Given the description of an element on the screen output the (x, y) to click on. 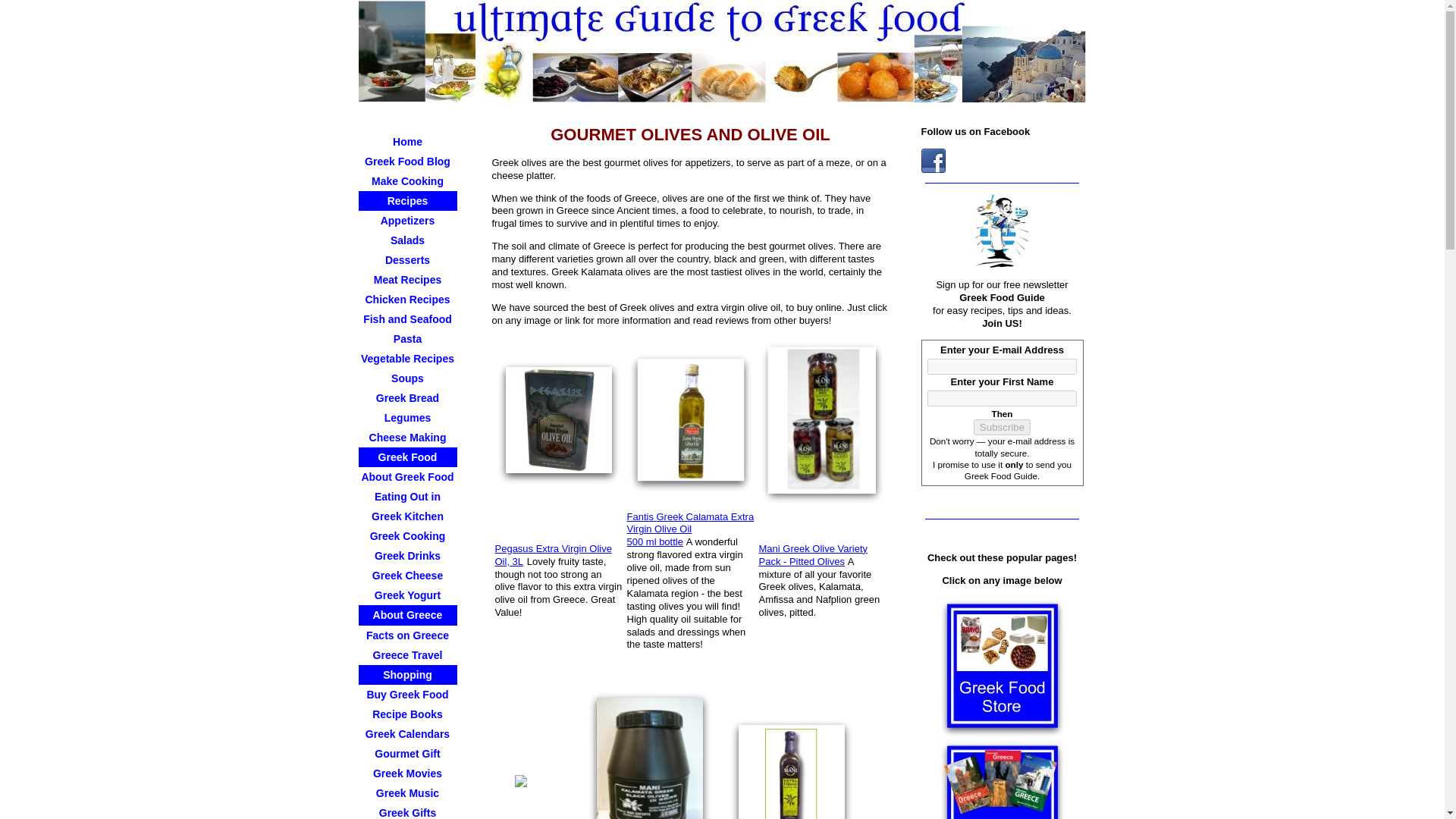
Greek Gifts (407, 811)
Cheese Making (407, 437)
Subscribe (1002, 426)
Greek Movies (407, 772)
Greek Cooking Terms (407, 536)
Buy Greek Food (407, 694)
Travel Guides for Greece (1001, 779)
Greek Music (407, 792)
Make Cooking Easy (407, 180)
Follow Ultimate Guide to Greek Food on Facebook (932, 160)
Greek Cheese (407, 575)
Desserts (407, 260)
Meat Recipes (407, 279)
Vegetable Recipes (407, 358)
Soups (407, 378)
